Given the description of an element on the screen output the (x, y) to click on. 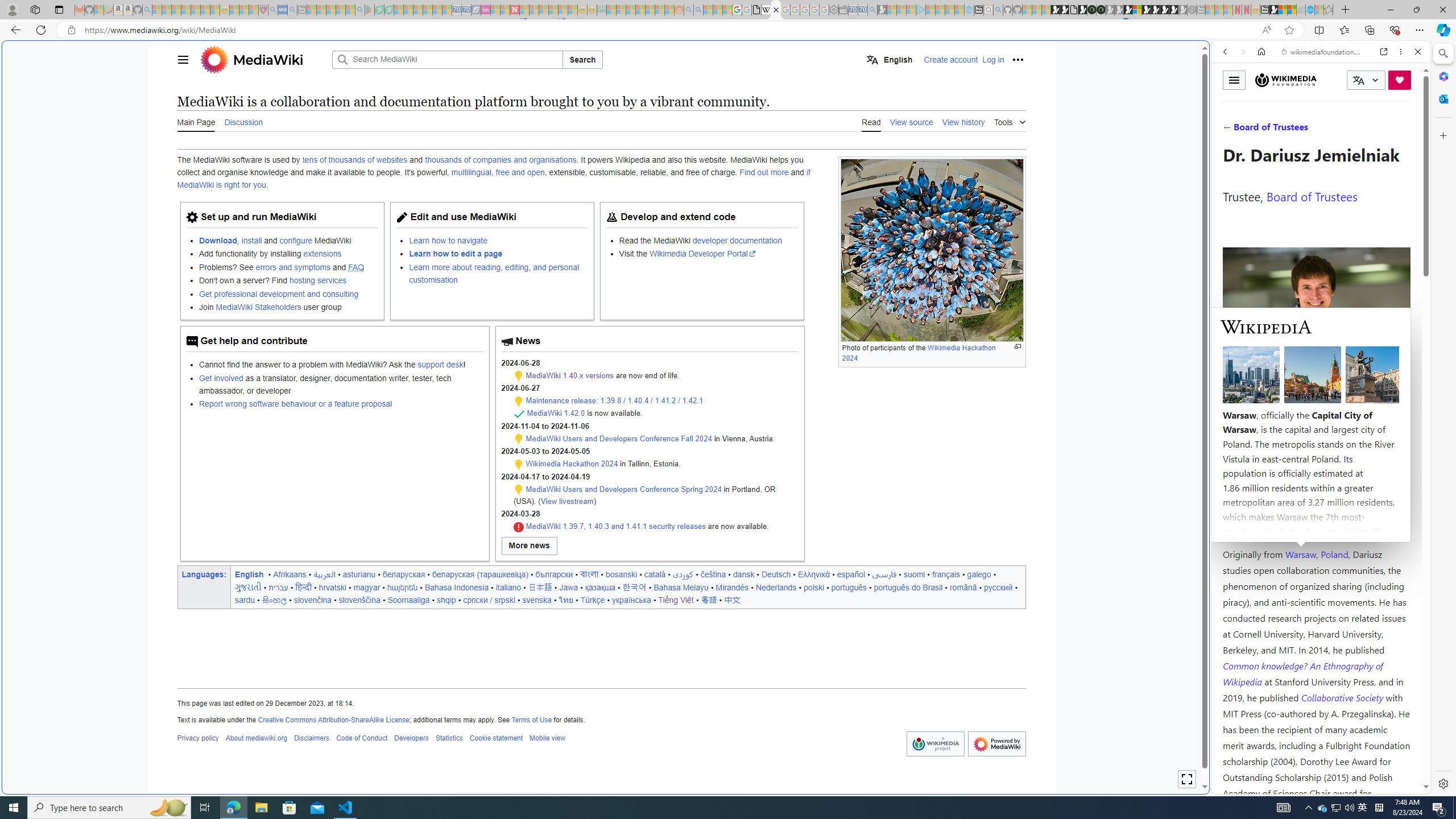
MediaWiki Stakeholders (258, 307)
Problems? See errors and symptoms and FAQ (288, 266)
italiano (508, 587)
Read (870, 121)
shqip (445, 599)
Wikimedia Foundation (1286, 79)
Security (518, 526)
Wikimedia Developer Portal (702, 253)
